Given the description of an element on the screen output the (x, y) to click on. 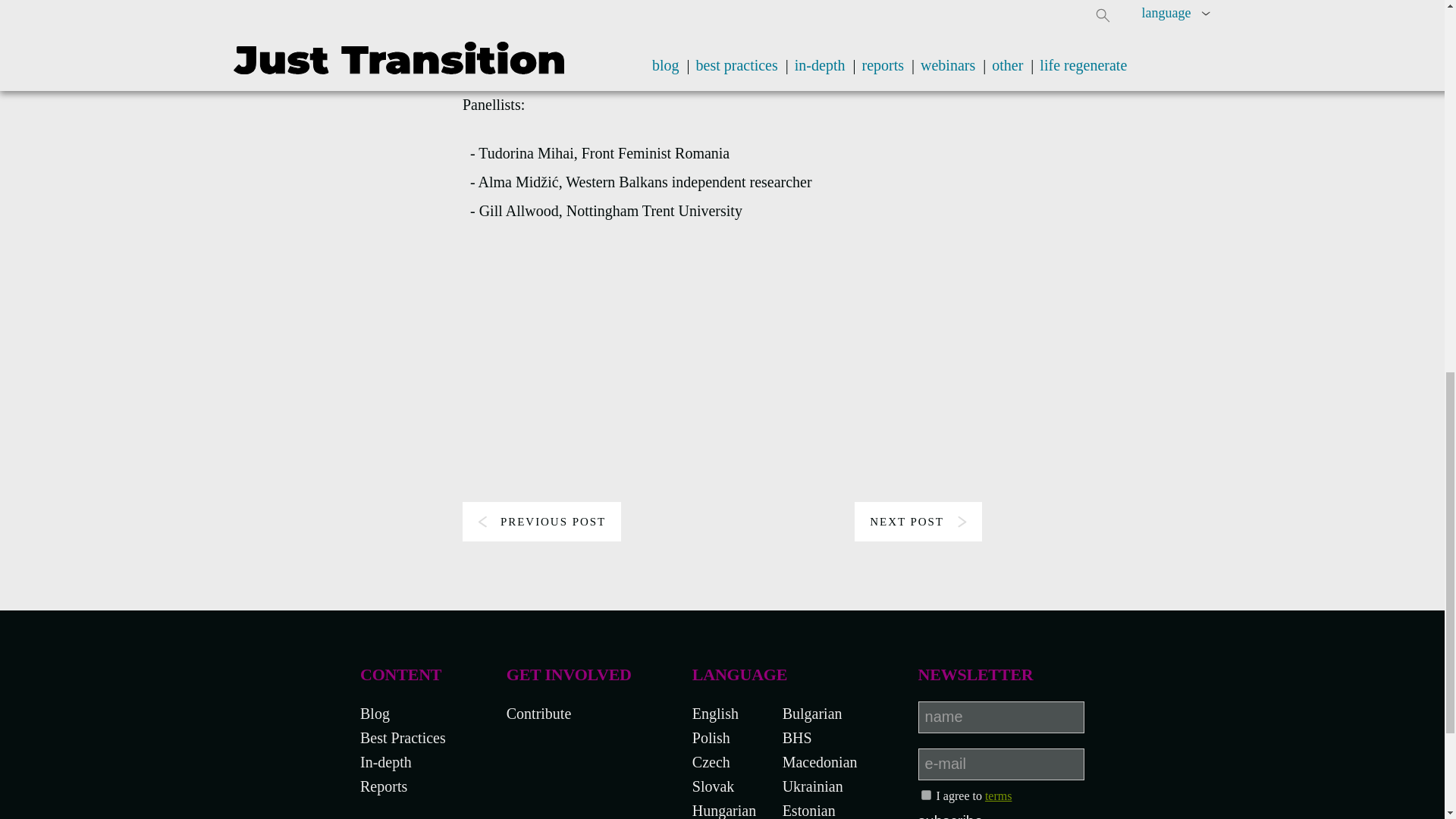
Contribute (539, 713)
Slovak (714, 786)
Czech (711, 761)
Reports (383, 786)
Best Practices (402, 737)
PREVIOUS POST (542, 521)
Polish (711, 737)
Blog (374, 713)
English (715, 713)
